Given the description of an element on the screen output the (x, y) to click on. 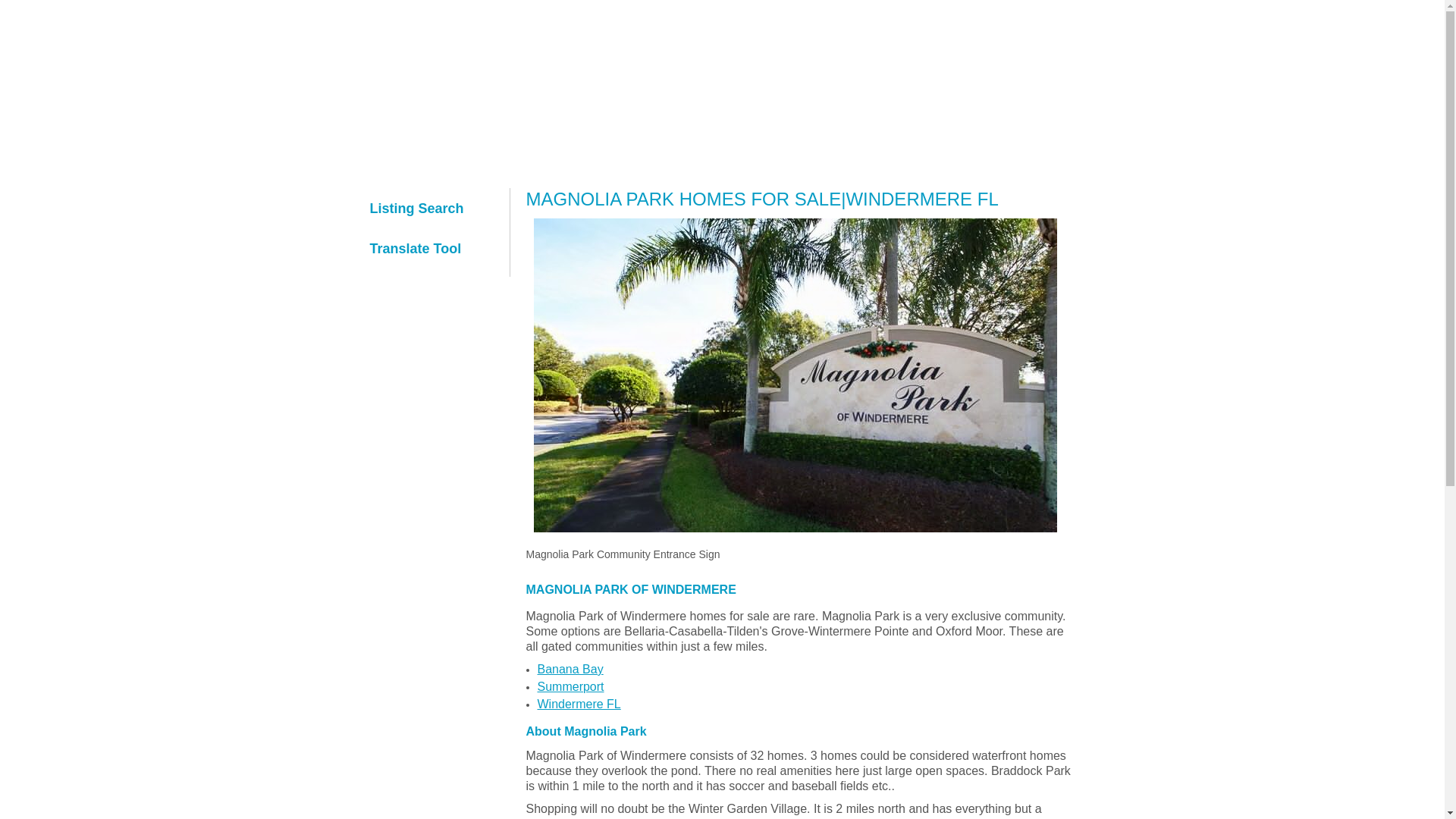
Banana Bay (569, 669)
Summerport (570, 686)
Windermere FL (578, 704)
